Given the description of an element on the screen output the (x, y) to click on. 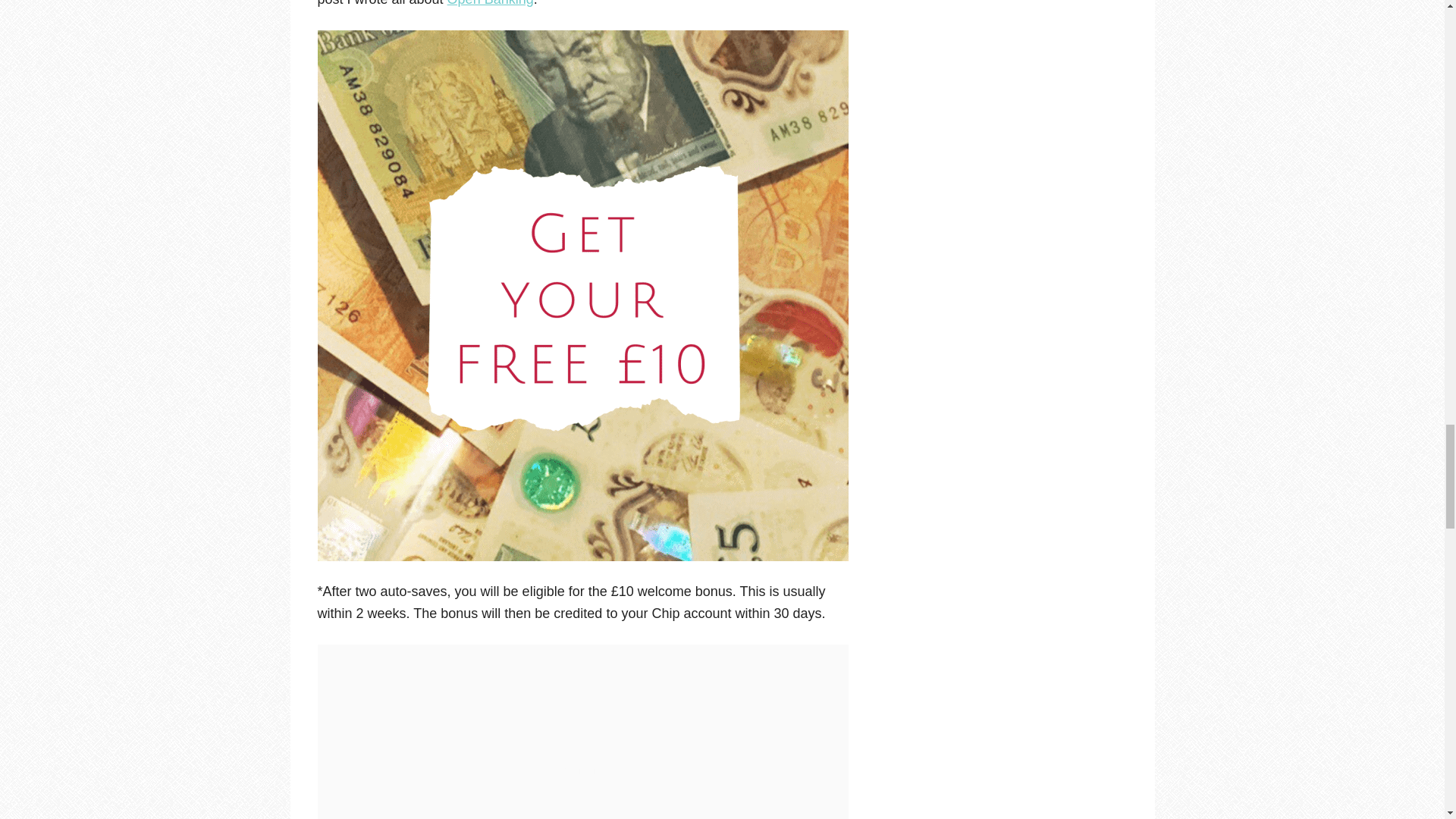
Open Banking (490, 2)
